Given the description of an element on the screen output the (x, y) to click on. 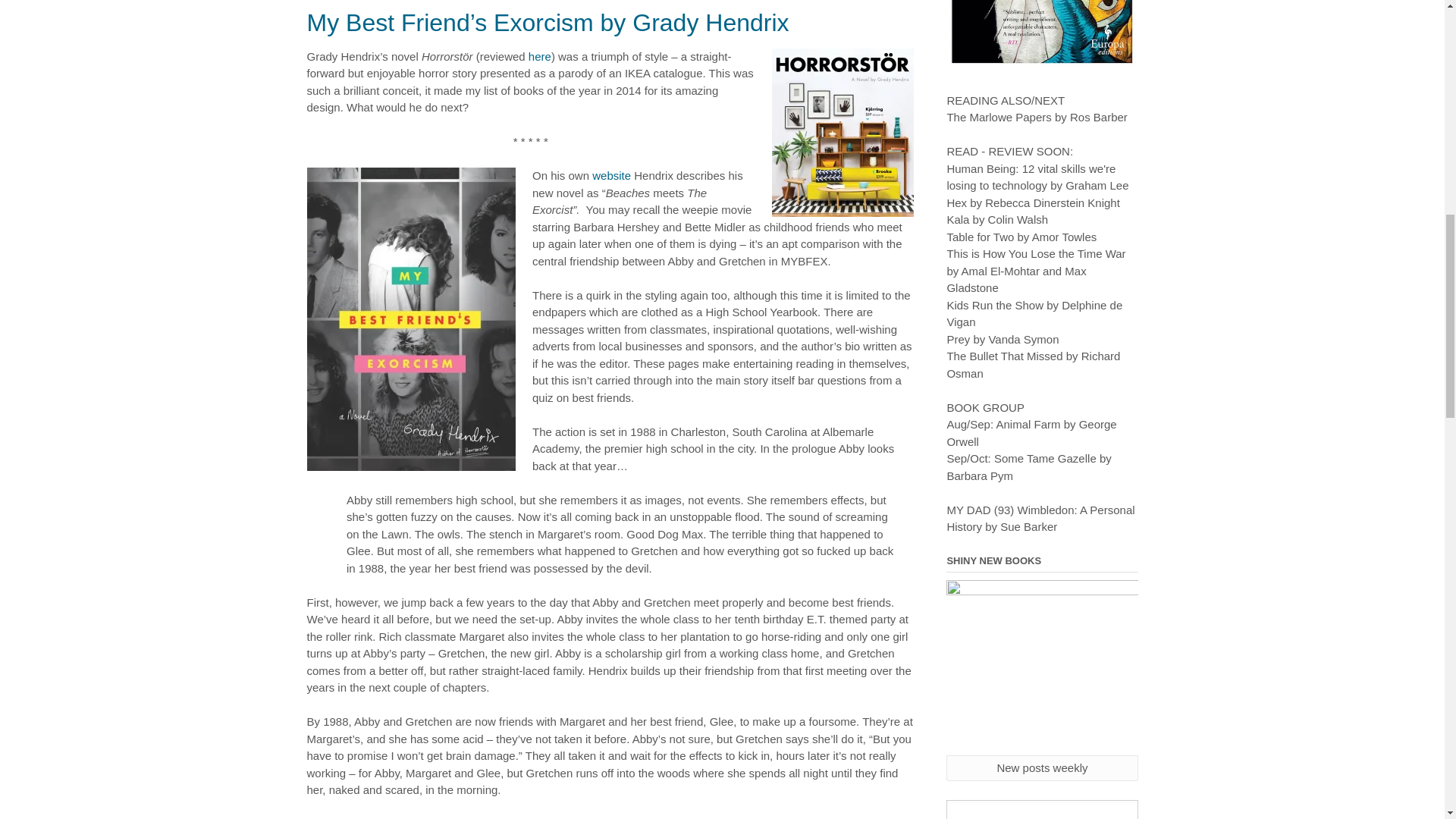
www.blackwells.co.uk (1041, 809)
website (611, 174)
here (539, 56)
SHINY NEW BOOKS (1041, 667)
